Given the description of an element on the screen output the (x, y) to click on. 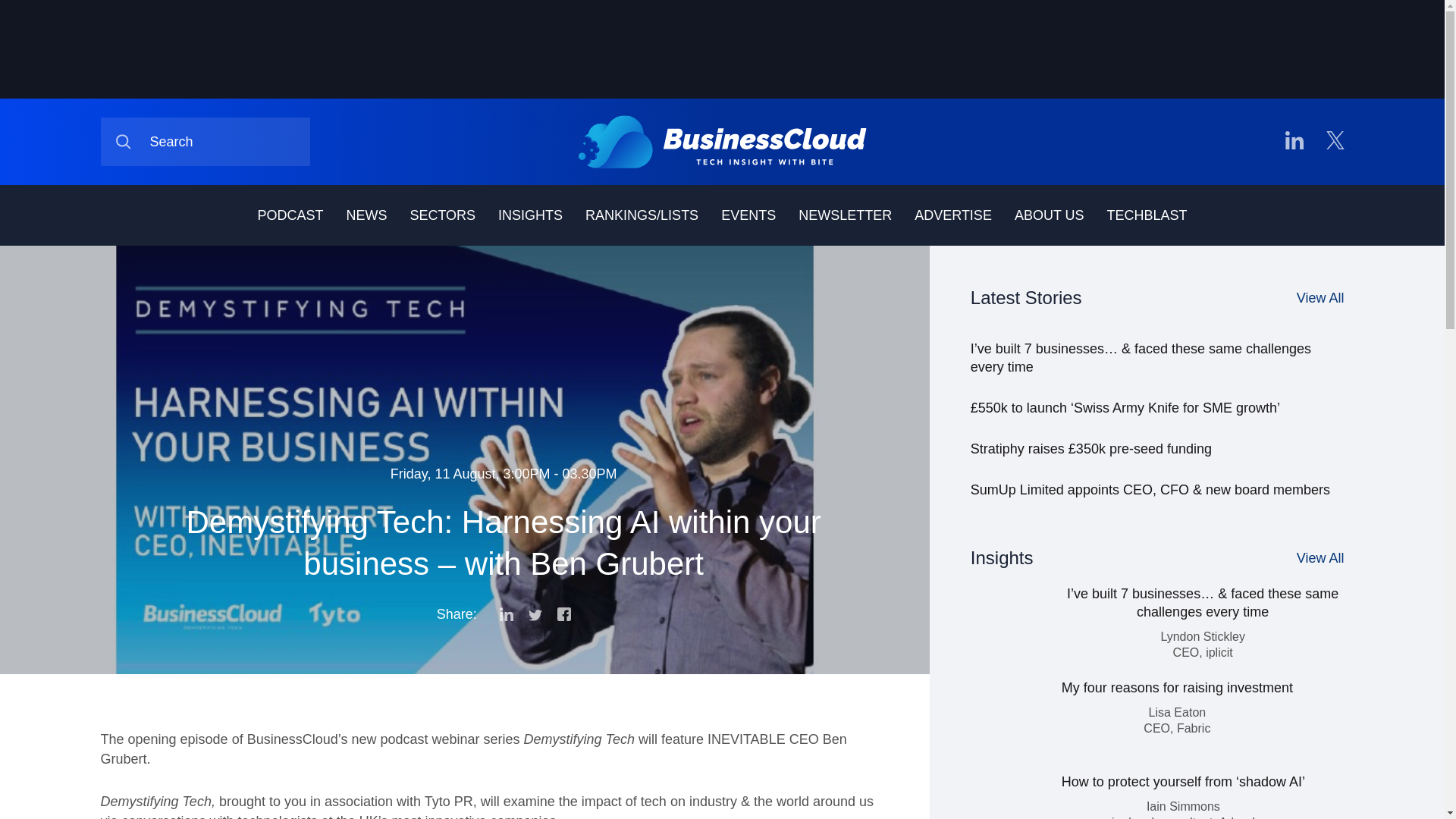
NEWSLETTER (844, 215)
INSIGHTS (529, 215)
Search for: (204, 141)
EVENTS (748, 215)
PODCAST (290, 215)
SECTORS (442, 215)
ADVERTISE (952, 215)
ABOUT US (1049, 215)
TECHBLAST (1147, 215)
NEWS (366, 215)
